Given the description of an element on the screen output the (x, y) to click on. 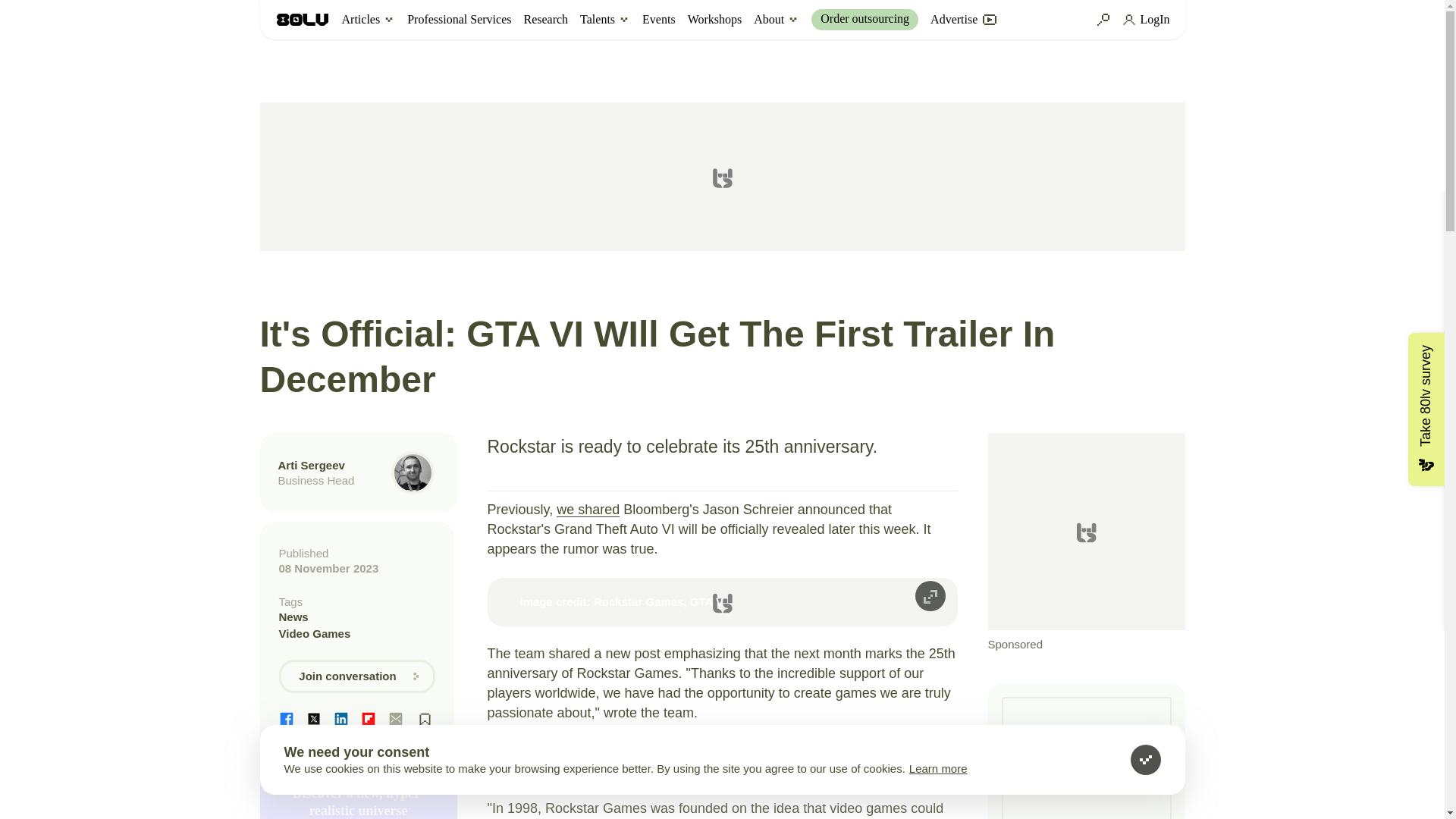
Facebook (286, 718)
Join conversation (357, 676)
Twitter (313, 718)
Arti Sergeev (310, 464)
Order outsourcing (864, 19)
LinkedIn (341, 718)
Video Games (357, 633)
Sponsored (1086, 542)
News (357, 616)
we shared (588, 509)
